Given the description of an element on the screen output the (x, y) to click on. 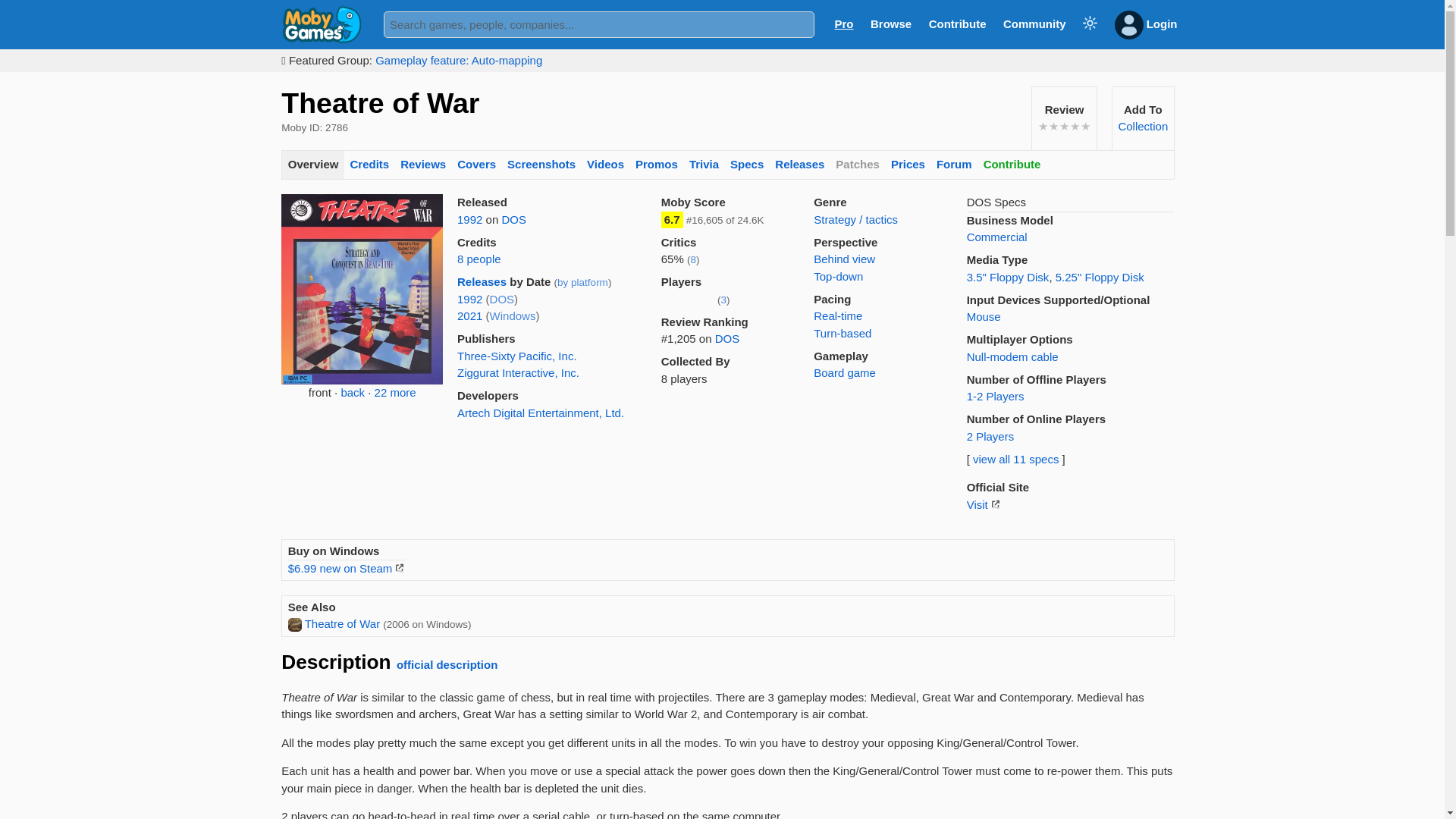
Pro (843, 23)
Videos (605, 165)
Collection (1142, 125)
Screenshots (541, 165)
Covers (476, 165)
Reviews (422, 165)
Gameplay feature: Auto-mapping (458, 60)
Credits (368, 165)
Overview (312, 165)
